Given the description of an element on the screen output the (x, y) to click on. 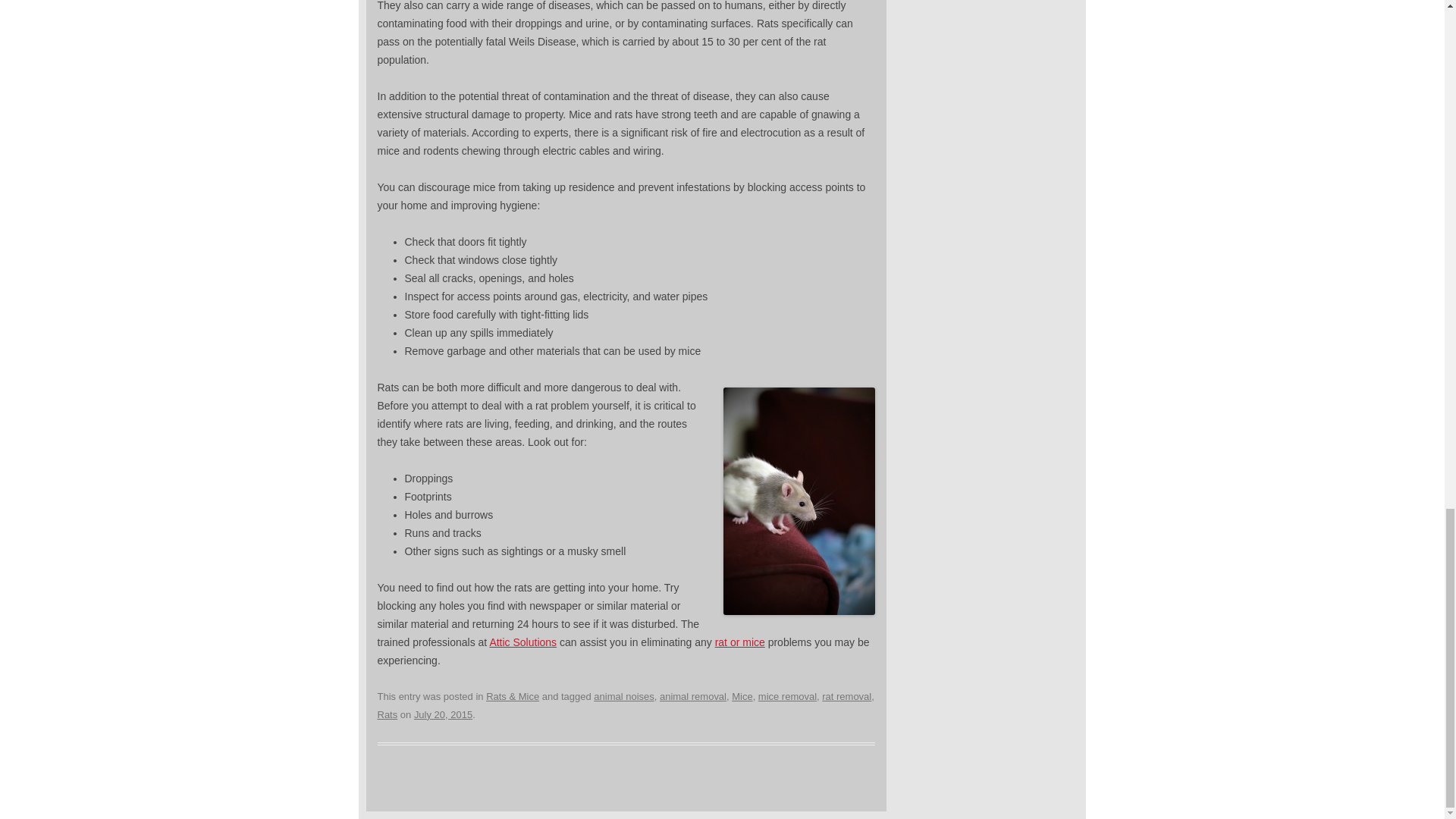
rat or mice (739, 642)
Mice (742, 696)
animal removal (692, 696)
Rats (387, 714)
8:00 am (442, 714)
July 20, 2015 (442, 714)
animal noises (623, 696)
mice removal (787, 696)
rat removal (846, 696)
Attic Solutions (522, 642)
